Given the description of an element on the screen output the (x, y) to click on. 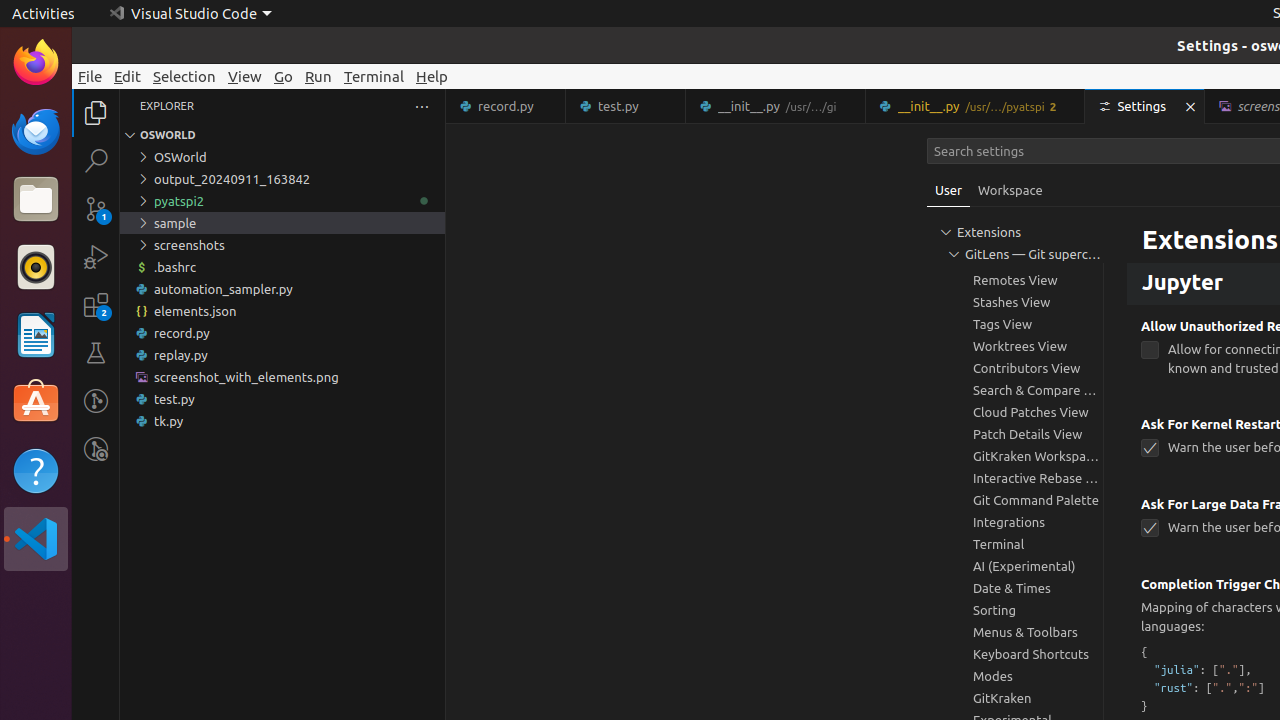
Explorer Section: osworld Element type: push-button (282, 135)
screenshot_with_elements.png Element type: tree-item (282, 377)
jupyter.askForKernelRestart Element type: check-box (1150, 448)
replay.py Element type: tree-item (282, 355)
